Given the description of an element on the screen output the (x, y) to click on. 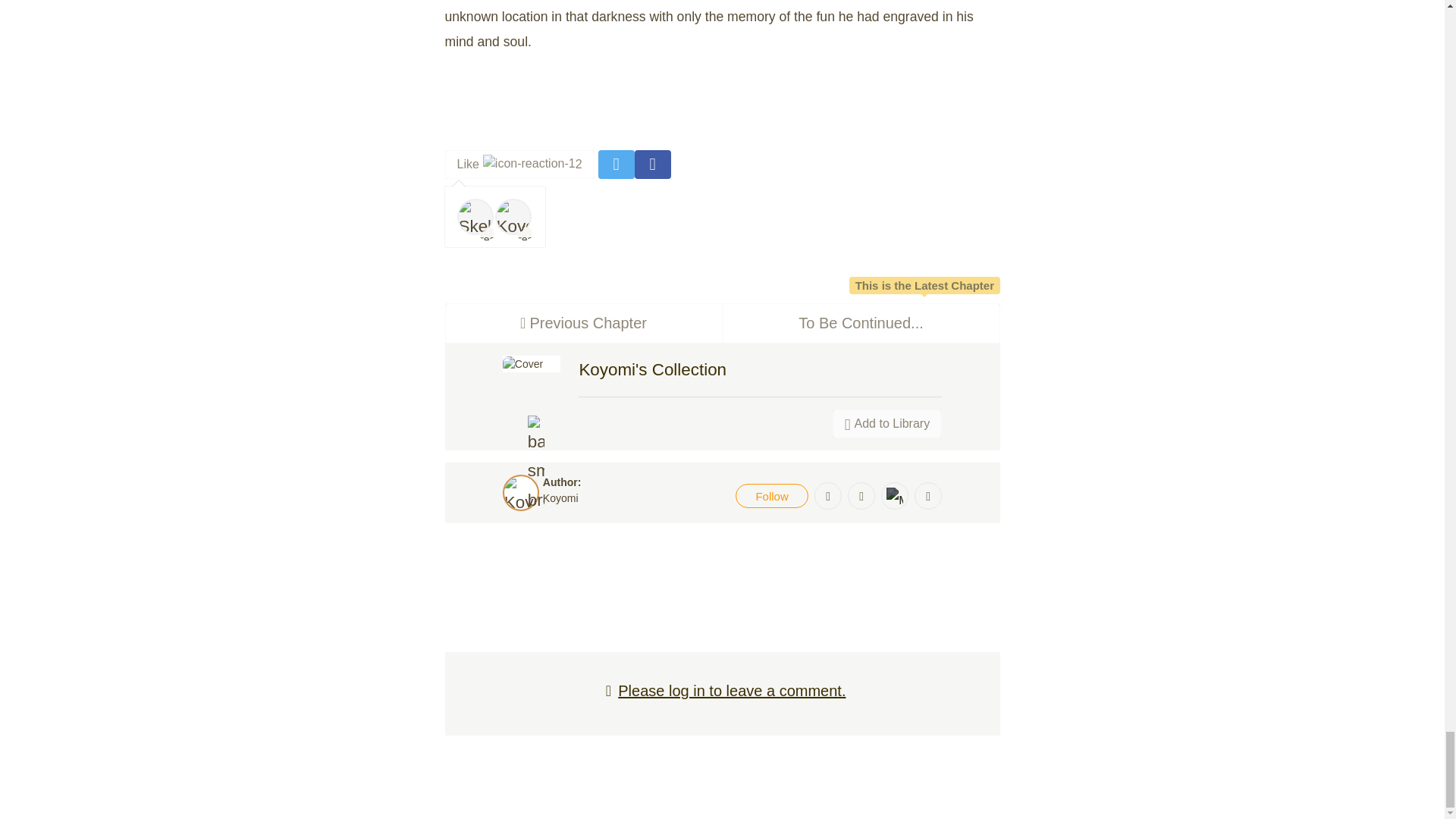
SkeletonIdiot (475, 217)
Koyomi (583, 323)
Add to Library (513, 217)
translation missing: en.common.author: (887, 423)
Koyomi (860, 323)
Koyomi's Collection (561, 481)
Follow (560, 498)
Like2 (652, 369)
Please log in to leave a comment. (583, 322)
